Given the description of an element on the screen output the (x, y) to click on. 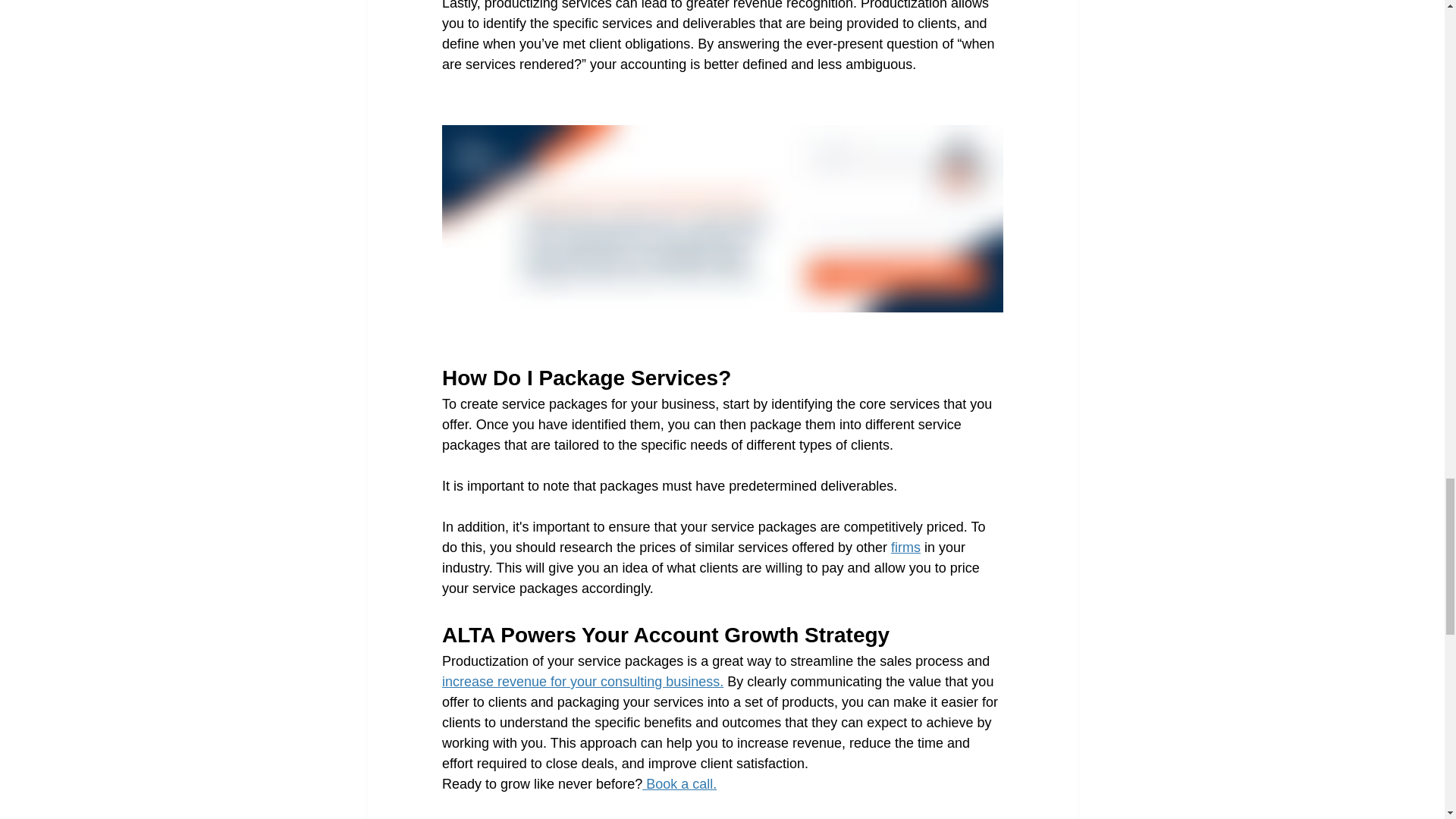
firms (904, 547)
 Book a call. (679, 783)
increase revenue for your consulting business. (581, 681)
